Given the description of an element on the screen output the (x, y) to click on. 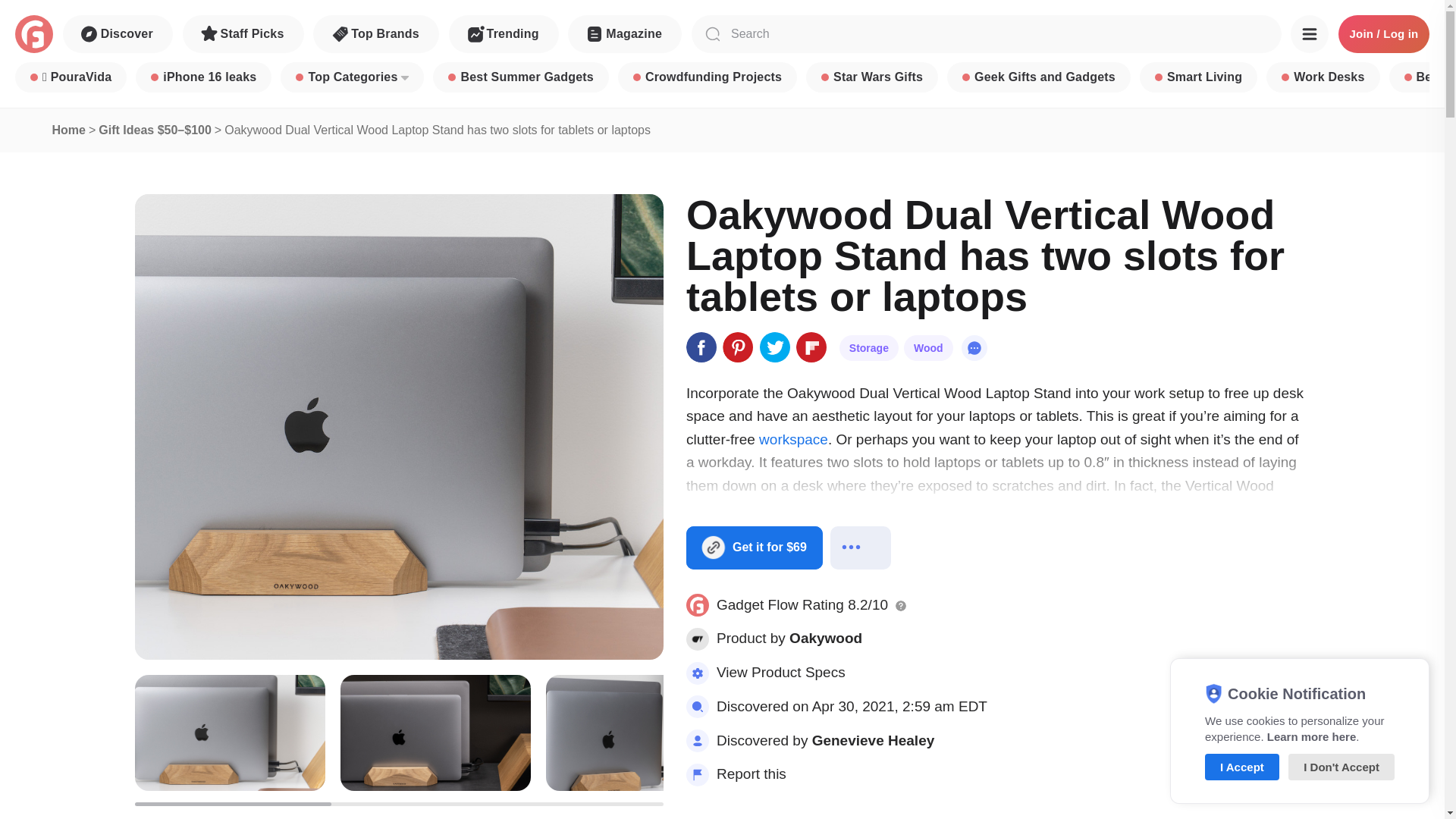
iPhone 16 leaks (202, 77)
Star Wars Gifts (871, 77)
Crowdfunding Projects (706, 77)
Gadget Flow (33, 34)
Smart Living (1198, 77)
Geek Gifts and Gadgets (1039, 77)
Staff Picks (243, 34)
Best Summer Gadgets (520, 77)
Discover (117, 34)
Magazine (624, 34)
